Given the description of an element on the screen output the (x, y) to click on. 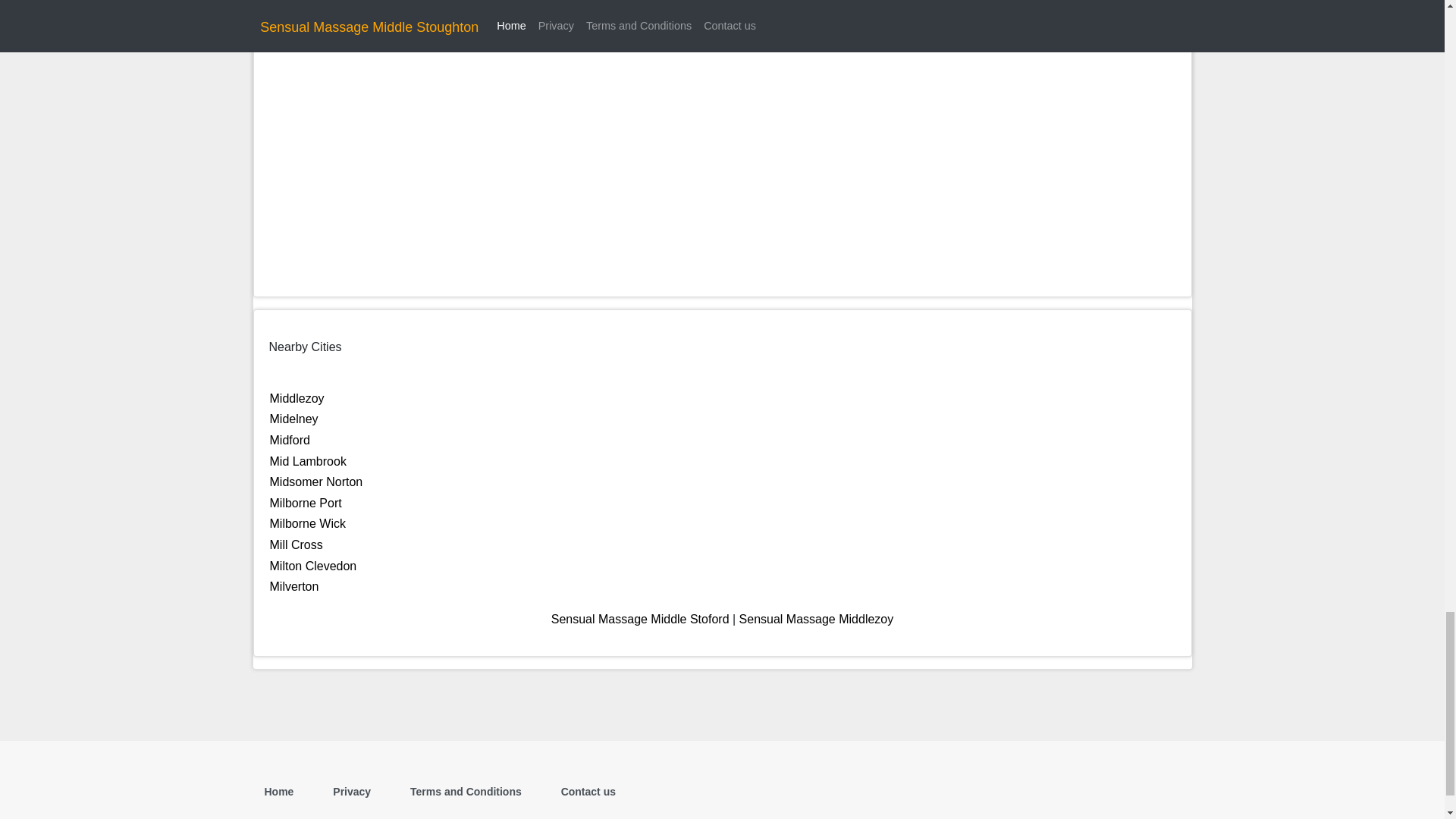
Midelney (293, 418)
Sensual Massage Middle Stoford (640, 618)
Milborne Wick (307, 522)
Milborne Port (305, 502)
Milverton (293, 585)
Midford (289, 440)
Midsomer Norton (315, 481)
Milton Clevedon (312, 565)
Mill Cross (296, 544)
Middlezoy (296, 398)
Sensual Massage Middlezoy (816, 618)
Mid Lambrook (307, 461)
